Given the description of an element on the screen output the (x, y) to click on. 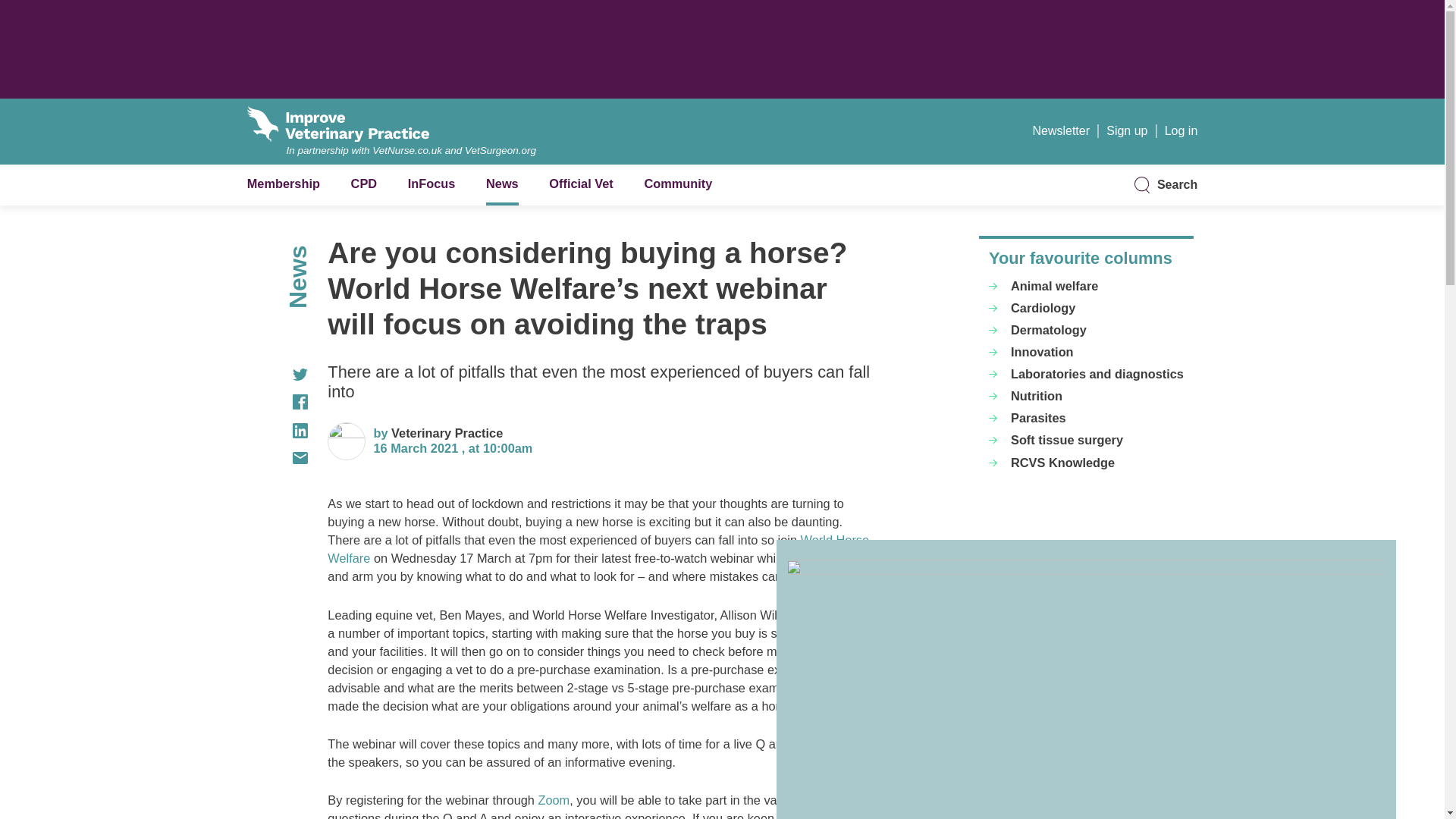
Sign up (1126, 130)
InFocus (431, 183)
Newsletter (1060, 130)
Log in (1181, 130)
Share on Twitter (277, 374)
Share on LinkedIn (277, 430)
Membership (283, 183)
Official Vet (580, 183)
Share on Facebook (277, 401)
CPD (363, 183)
